Given the description of an element on the screen output the (x, y) to click on. 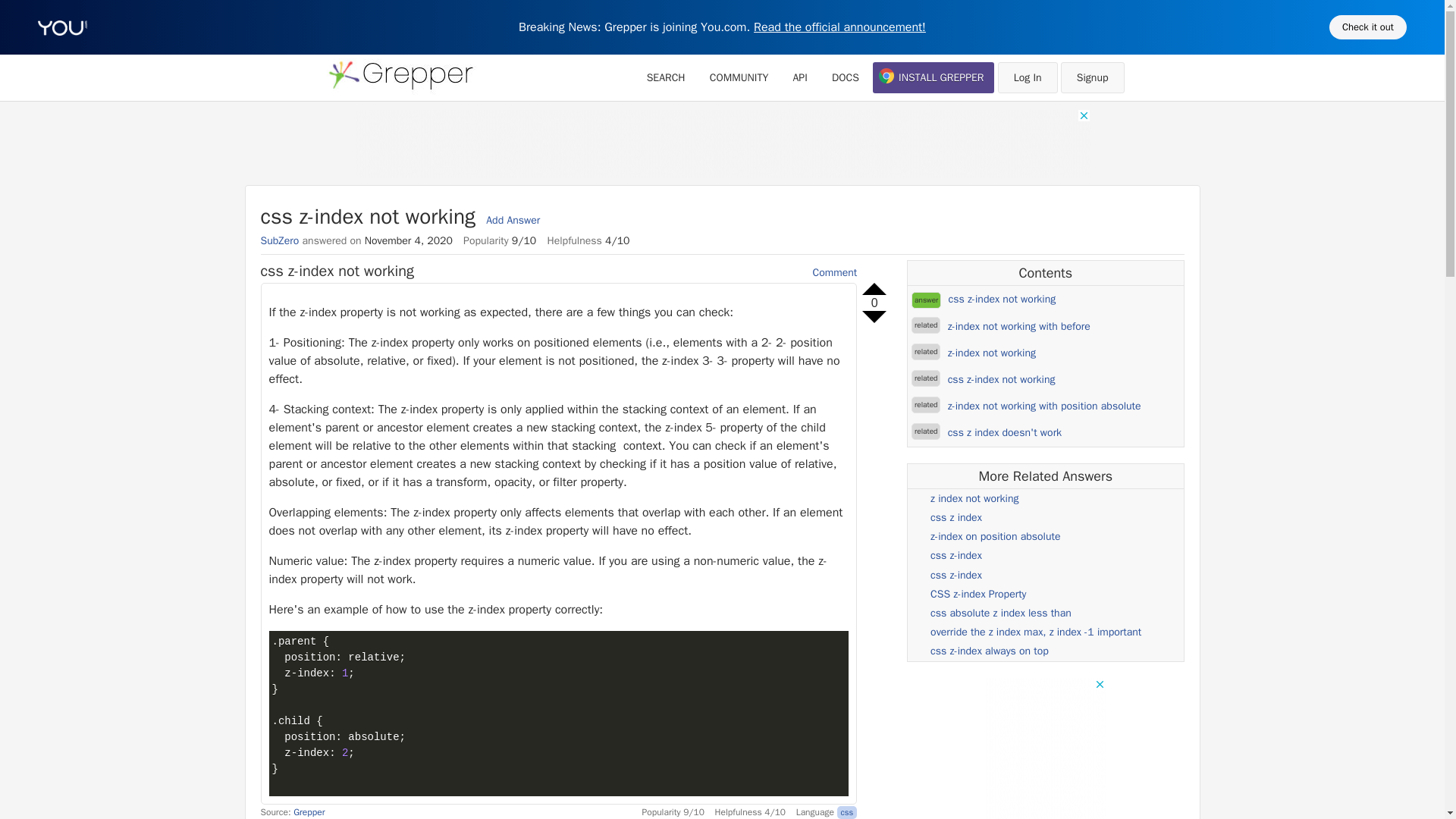
css z index doesn't work (1004, 431)
Comment (834, 272)
3rd party ad content (722, 142)
CSS z-index Property (978, 594)
override the z index max, z index -1 important (1035, 631)
Check it out (1367, 27)
Log In (1027, 77)
SubZero (279, 240)
DOCS (845, 77)
z-index not working with before (1018, 326)
Grepper (309, 811)
css z-index (955, 554)
z-index on position absolute (994, 535)
css z-index always on top (989, 650)
css z index (955, 517)
